Given the description of an element on the screen output the (x, y) to click on. 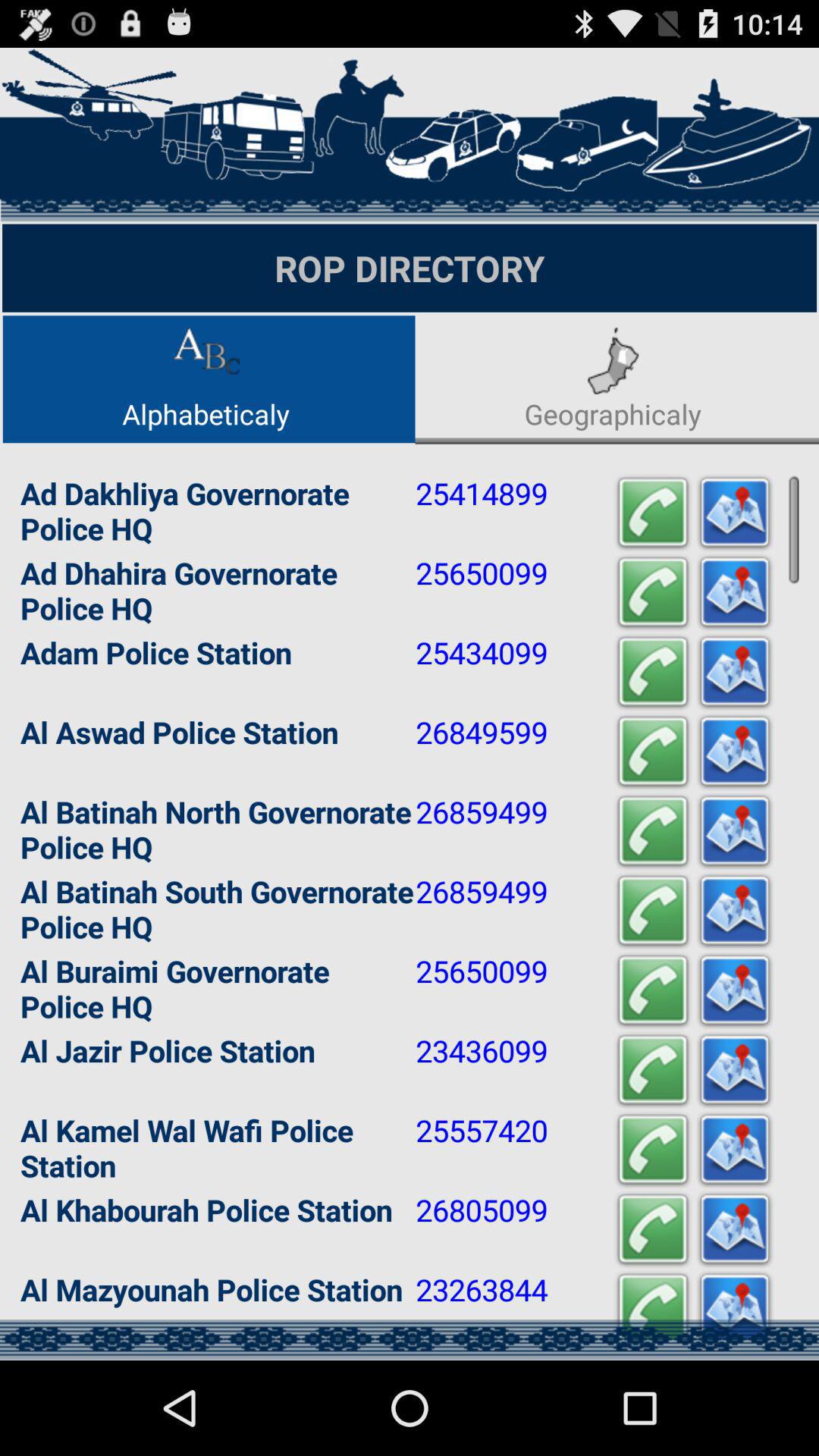
location share (734, 1229)
